Given the description of an element on the screen output the (x, y) to click on. 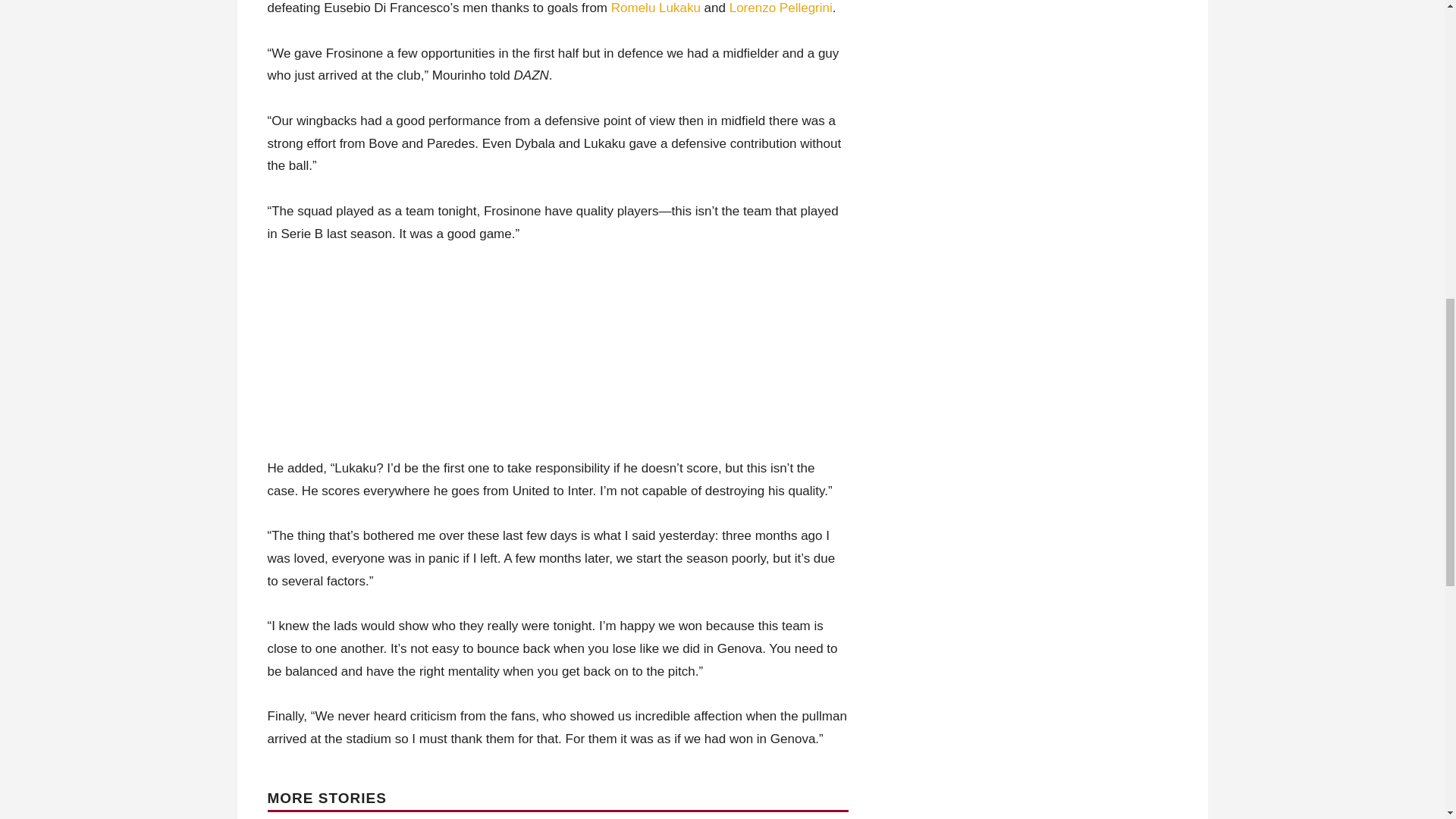
Lorenzo Pellegrini (780, 7)
Romelu Lukaku (655, 7)
